Given the description of an element on the screen output the (x, y) to click on. 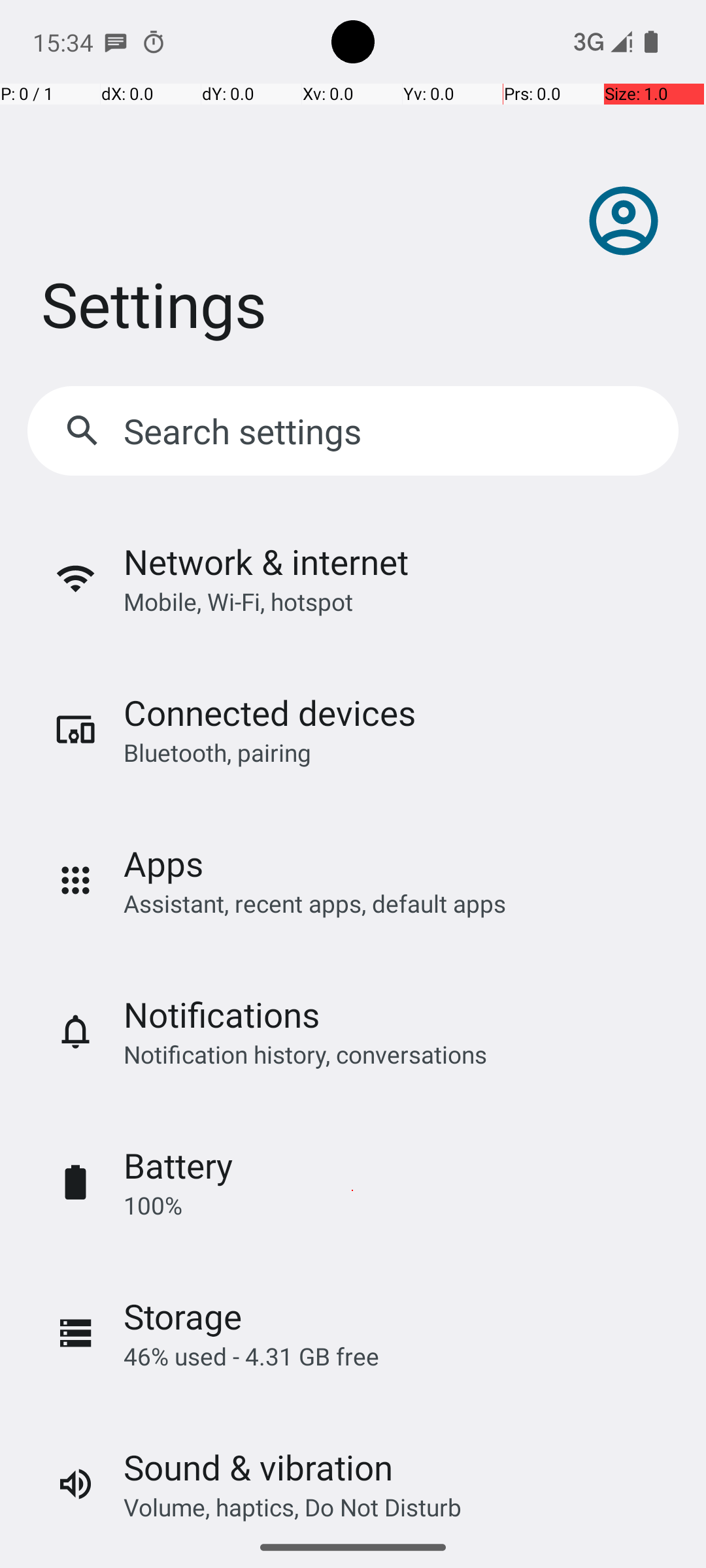
46% used - 4.31 GB free Element type: android.widget.TextView (251, 1355)
